Given the description of an element on the screen output the (x, y) to click on. 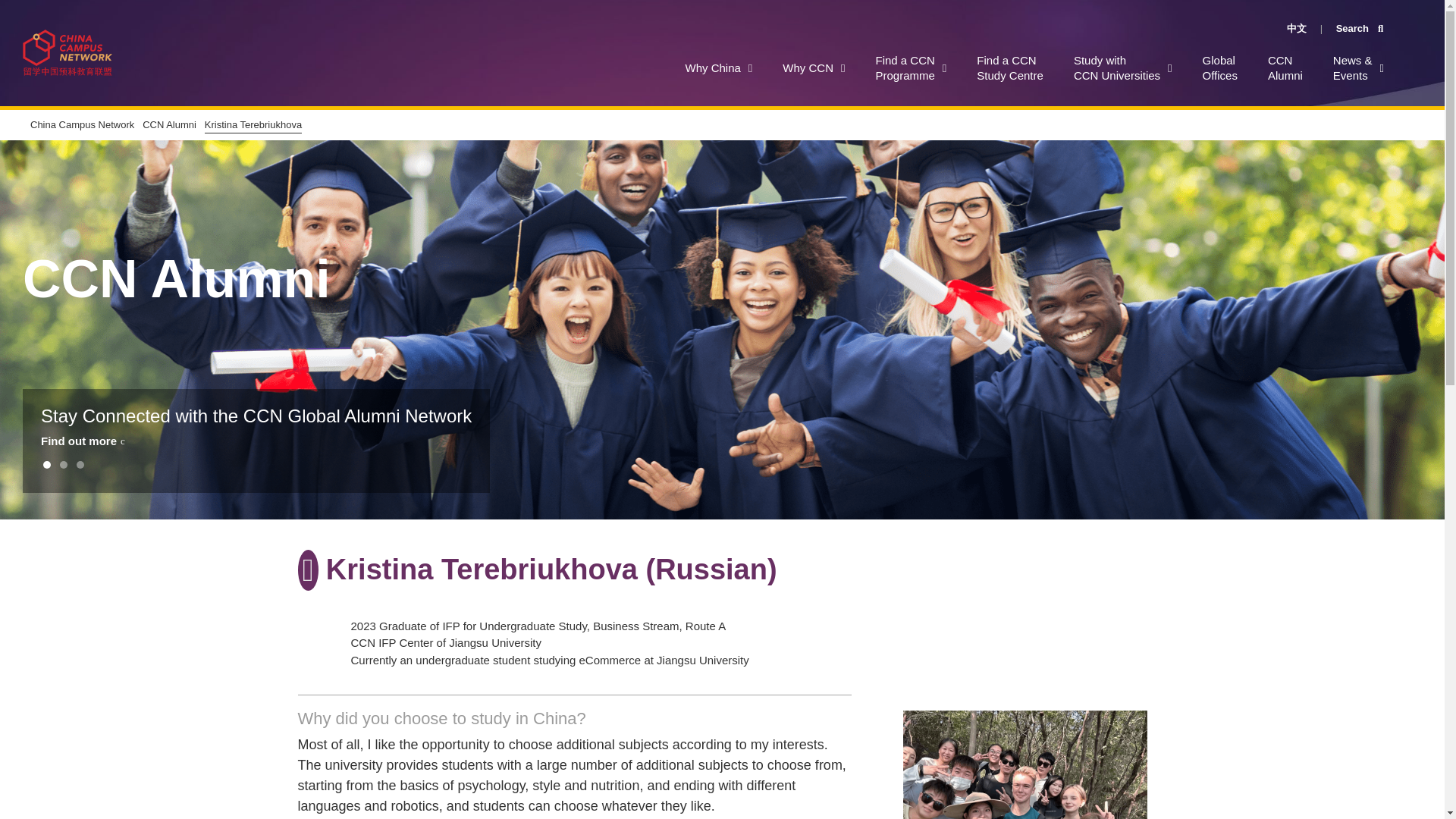
Why CCN (1284, 68)
Why China (813, 68)
Search (1123, 68)
